Given the description of an element on the screen output the (x, y) to click on. 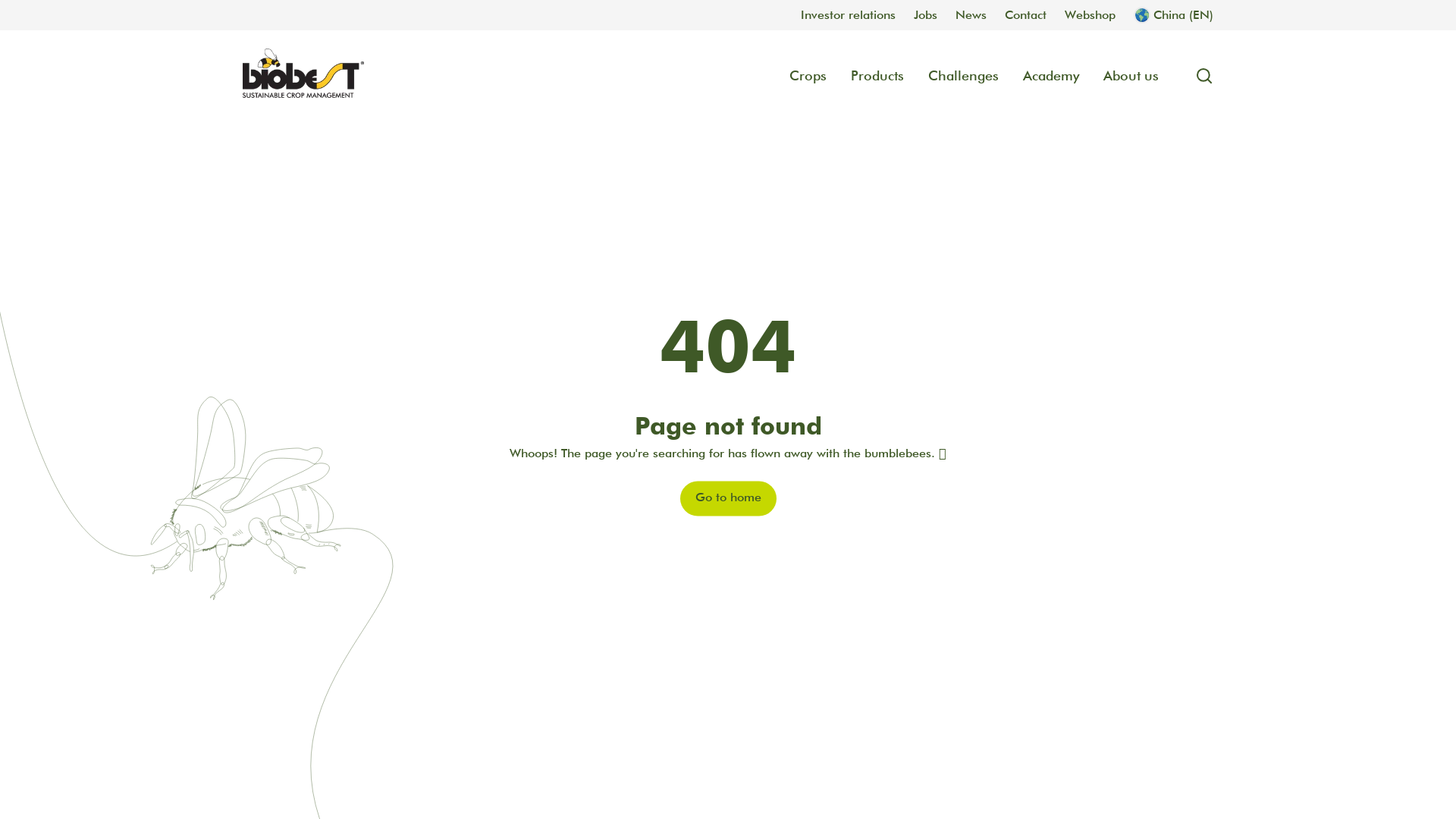
Crops Element type: text (807, 74)
Webshop Element type: text (1089, 14)
Investor relations Element type: text (847, 15)
Go to home Element type: text (727, 498)
Contact Element type: text (1025, 15)
About us Element type: text (1130, 74)
Jobs Element type: text (925, 15)
China (EN) Element type: text (1173, 15)
Academy Element type: text (1050, 74)
News Element type: text (970, 15)
Search Element type: hover (1198, 75)
Products Element type: text (876, 74)
Challenges Element type: text (963, 74)
